Given the description of an element on the screen output the (x, y) to click on. 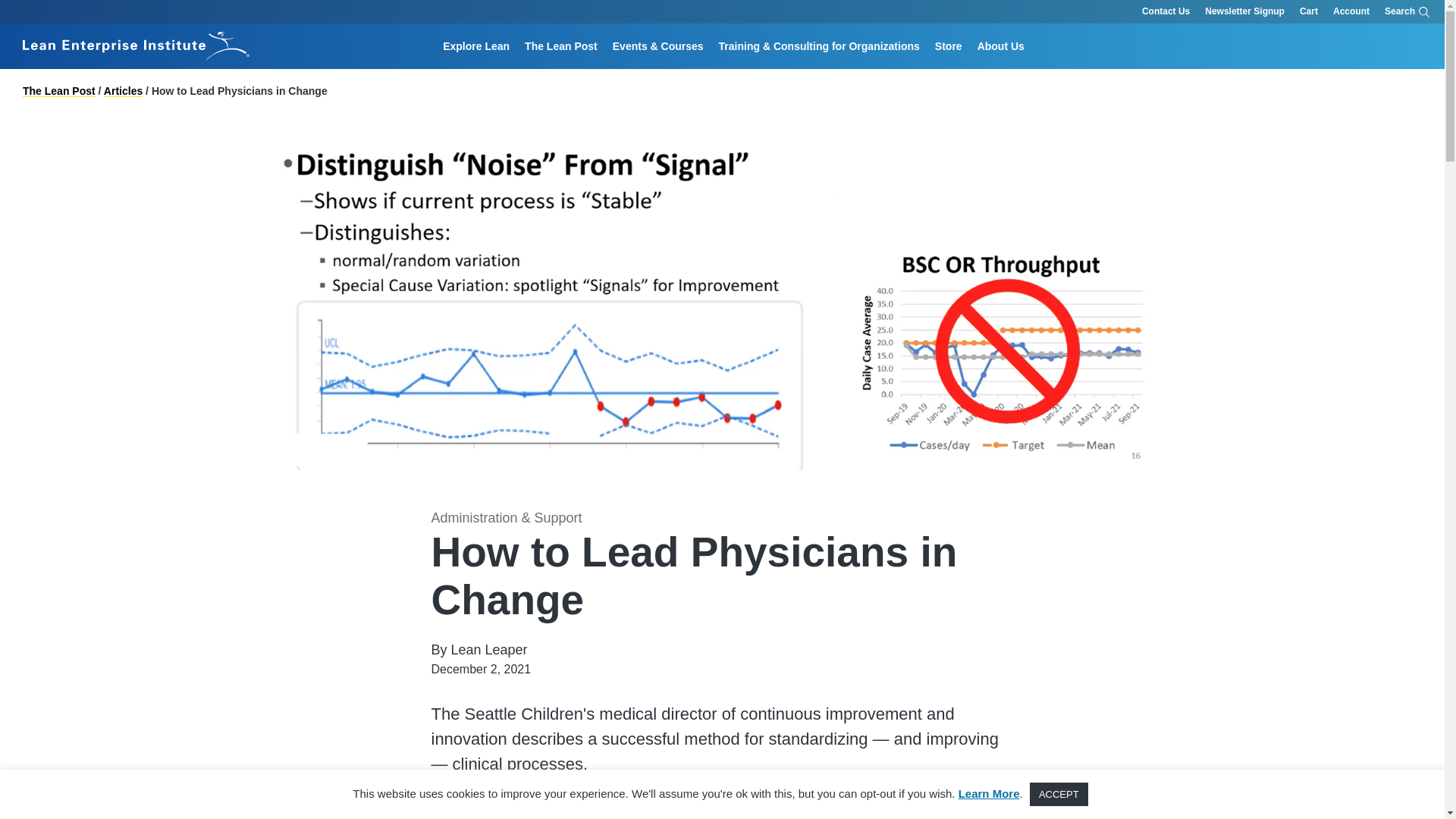
Cart (1308, 11)
Search (1407, 11)
Contact Us (1165, 11)
Newsletter Signup (1244, 11)
Search (924, 68)
Account (1350, 11)
The Lean Post (560, 45)
Explore Lean (475, 45)
The Lean Post (560, 45)
Explore Lean (475, 45)
